Given the description of an element on the screen output the (x, y) to click on. 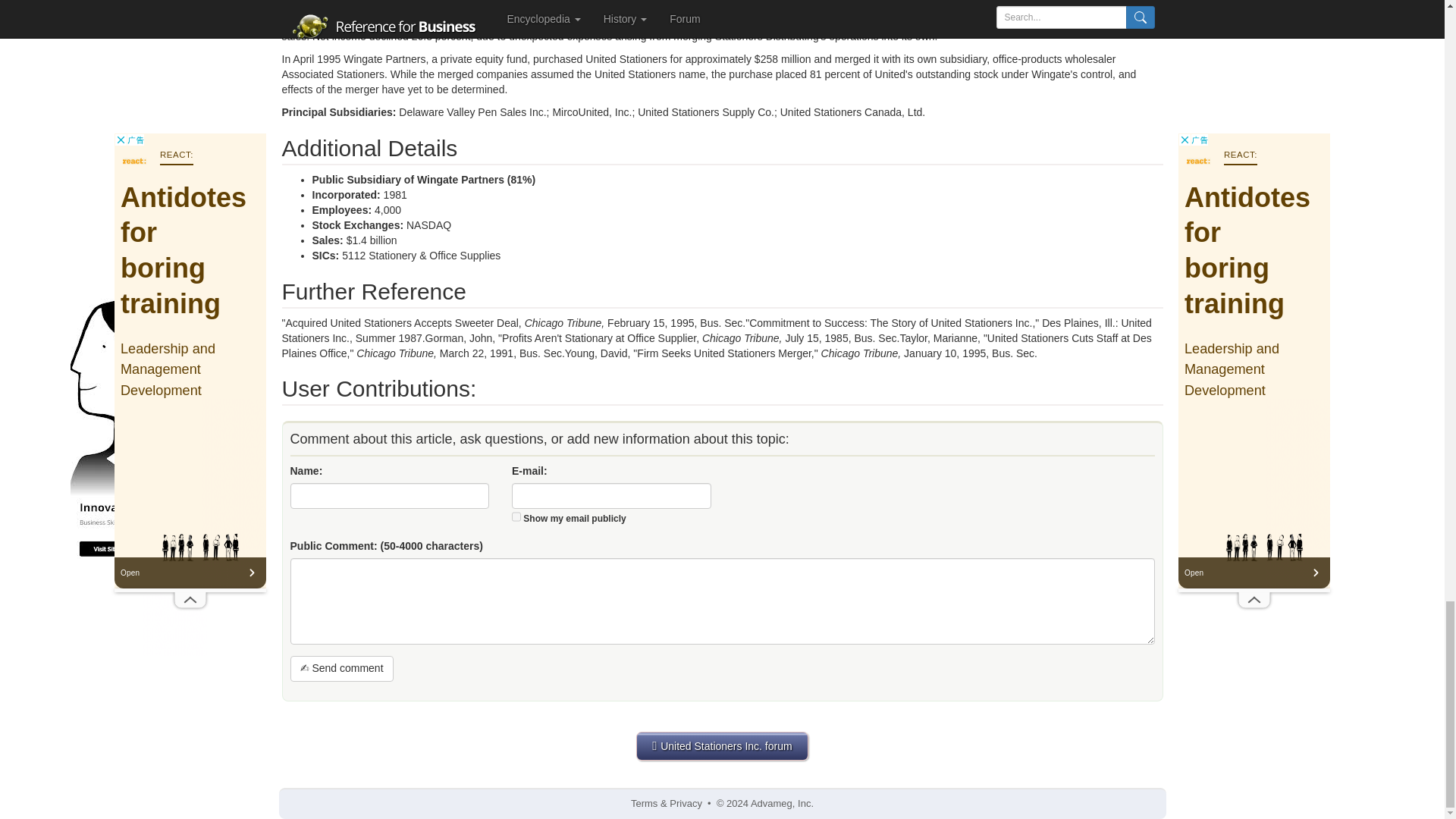
1 (516, 516)
United Stationers Inc. forum (722, 746)
